Given the description of an element on the screen output the (x, y) to click on. 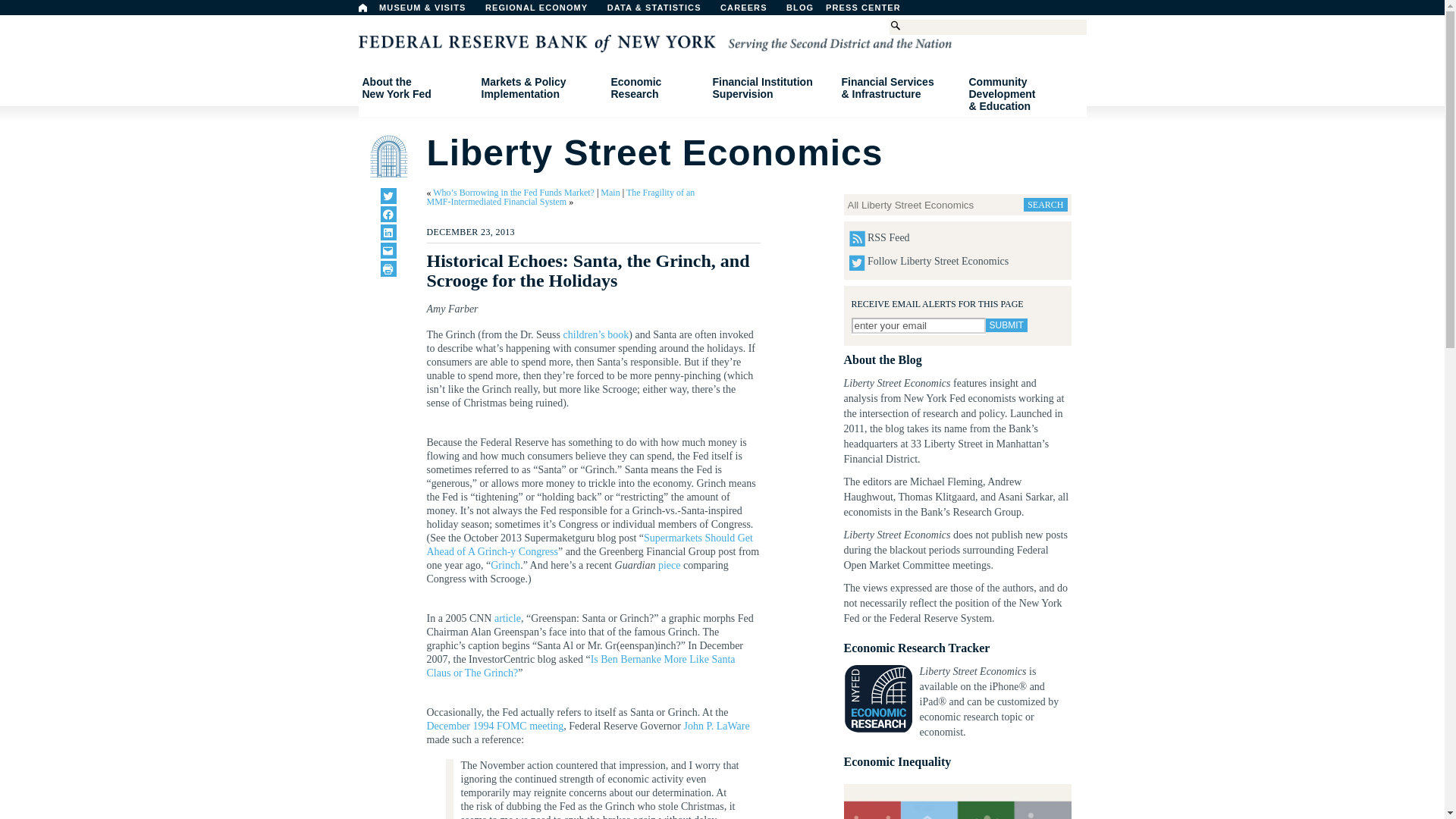
Click to share on Facebook (388, 213)
Click to print (388, 268)
Submit (1006, 325)
REGIONAL ECONOMY (543, 11)
BLOG (839, 11)
Click to share on LinkedIn (388, 232)
Home (362, 8)
Click to share on Twitter (388, 195)
enter your email (917, 325)
Click to email a link to a friend (415, 87)
CAREERS (388, 250)
PRESS CENTER (751, 11)
